Given the description of an element on the screen output the (x, y) to click on. 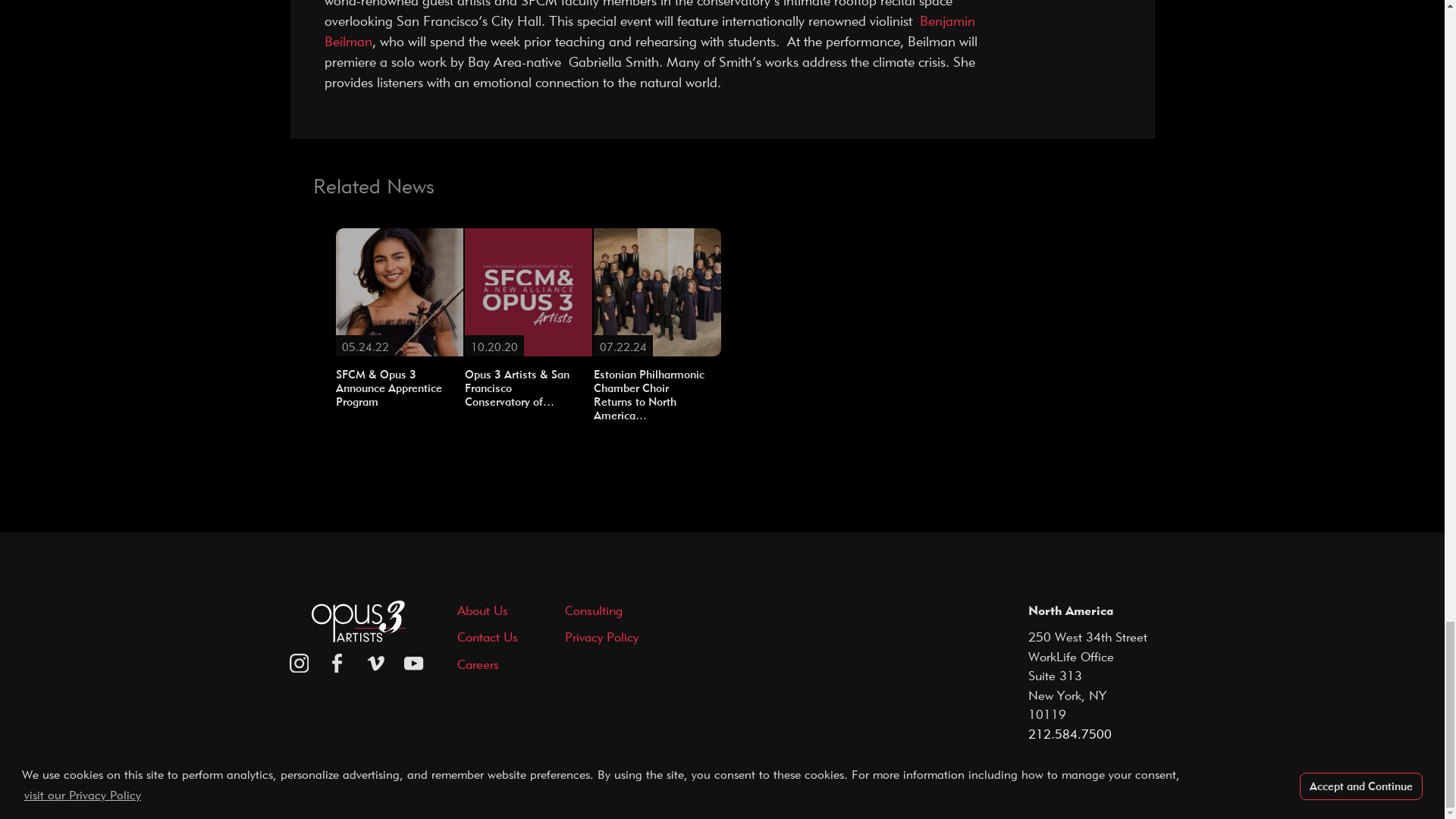
Benjamin Beilman (649, 31)
